Given the description of an element on the screen output the (x, y) to click on. 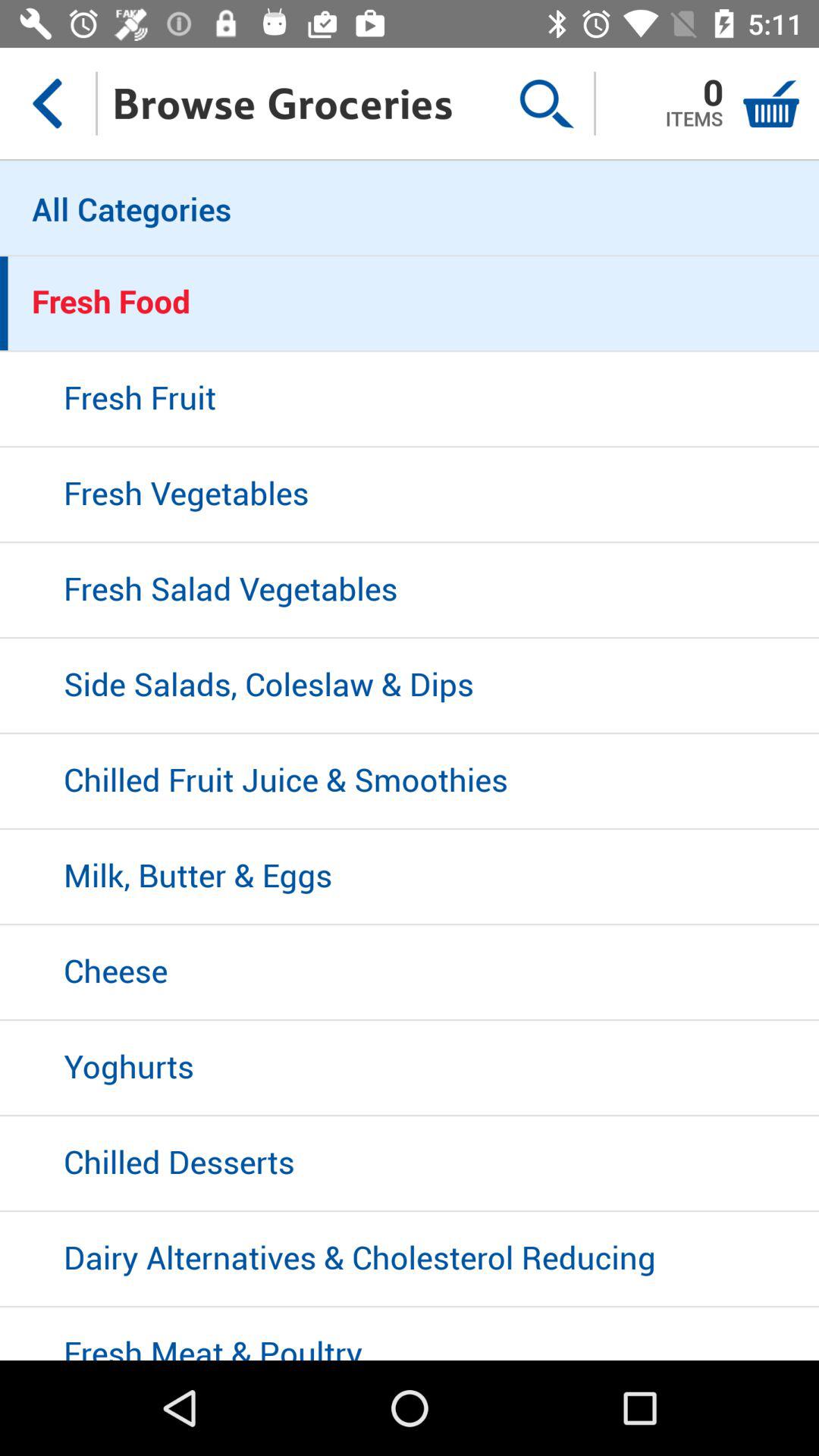
open the icon above the fresh meat & poultry (409, 1259)
